Given the description of an element on the screen output the (x, y) to click on. 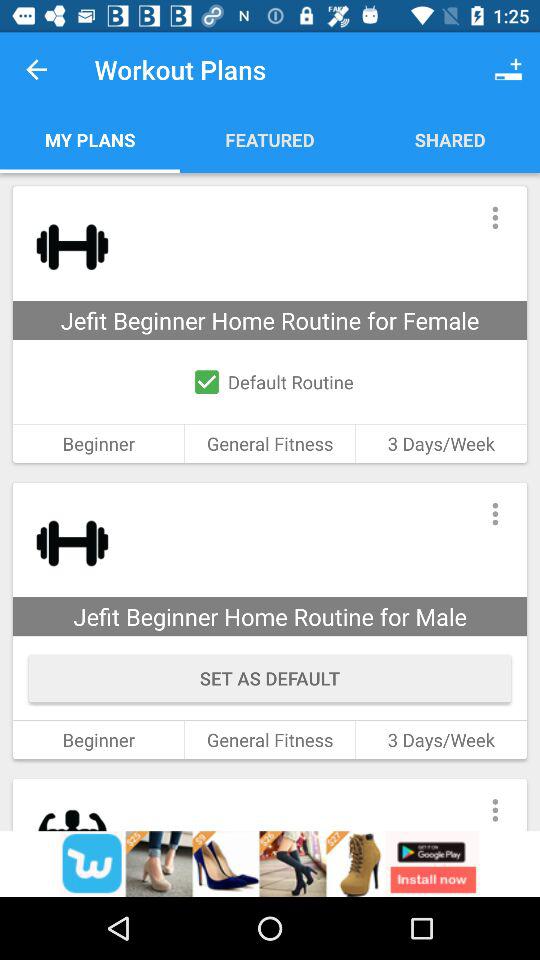
access pulldown menu (494, 217)
